Given the description of an element on the screen output the (x, y) to click on. 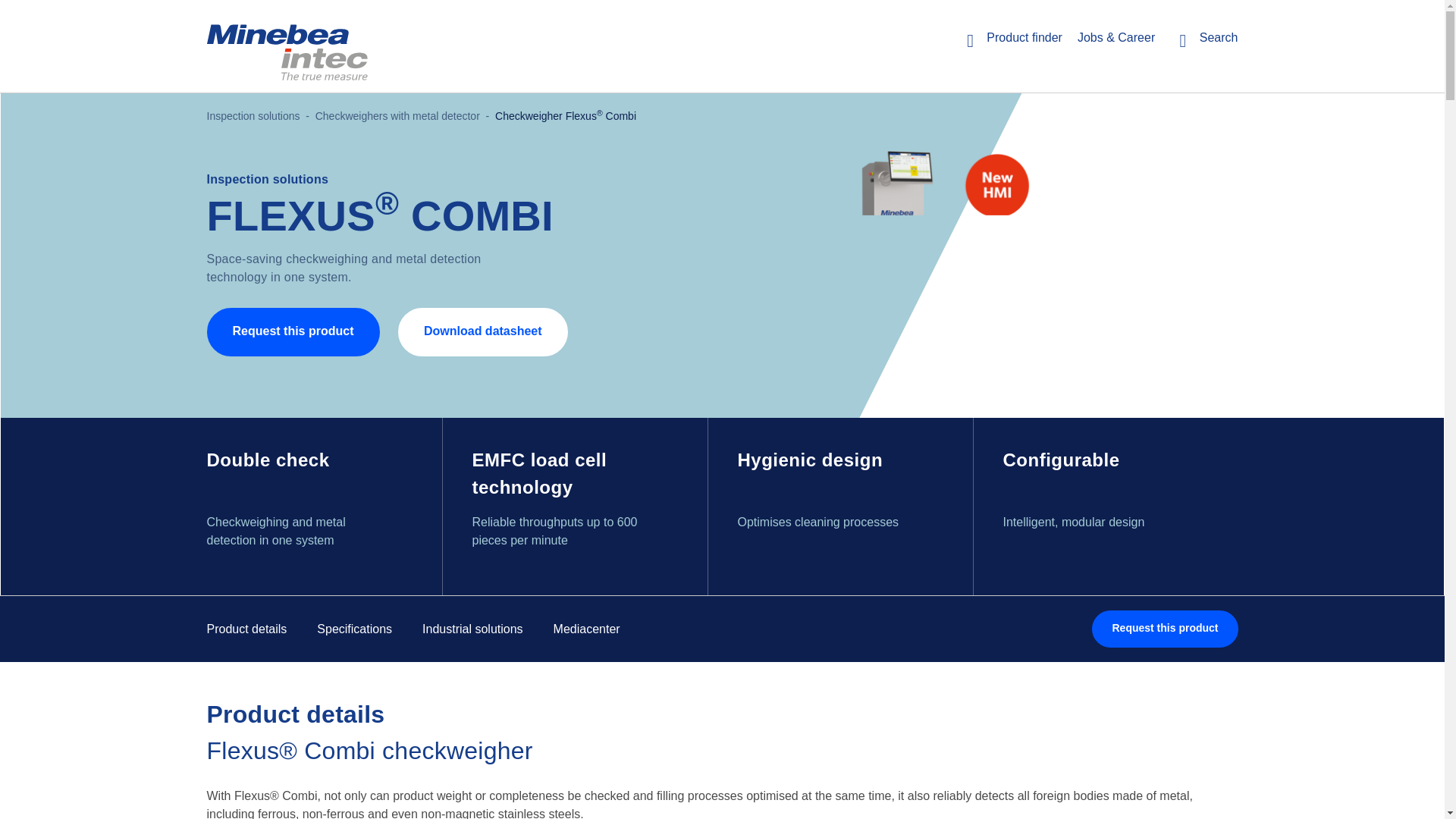
Inspection solutions (252, 115)
Request this product (292, 331)
Product details (246, 629)
Request this product (1164, 628)
Industrial solutions (472, 629)
Industrial solutions (472, 629)
Checkweighers with metal detector (397, 115)
Specifications (354, 629)
Request this product (292, 331)
Mediacenter (586, 629)
